Given the description of an element on the screen output the (x, y) to click on. 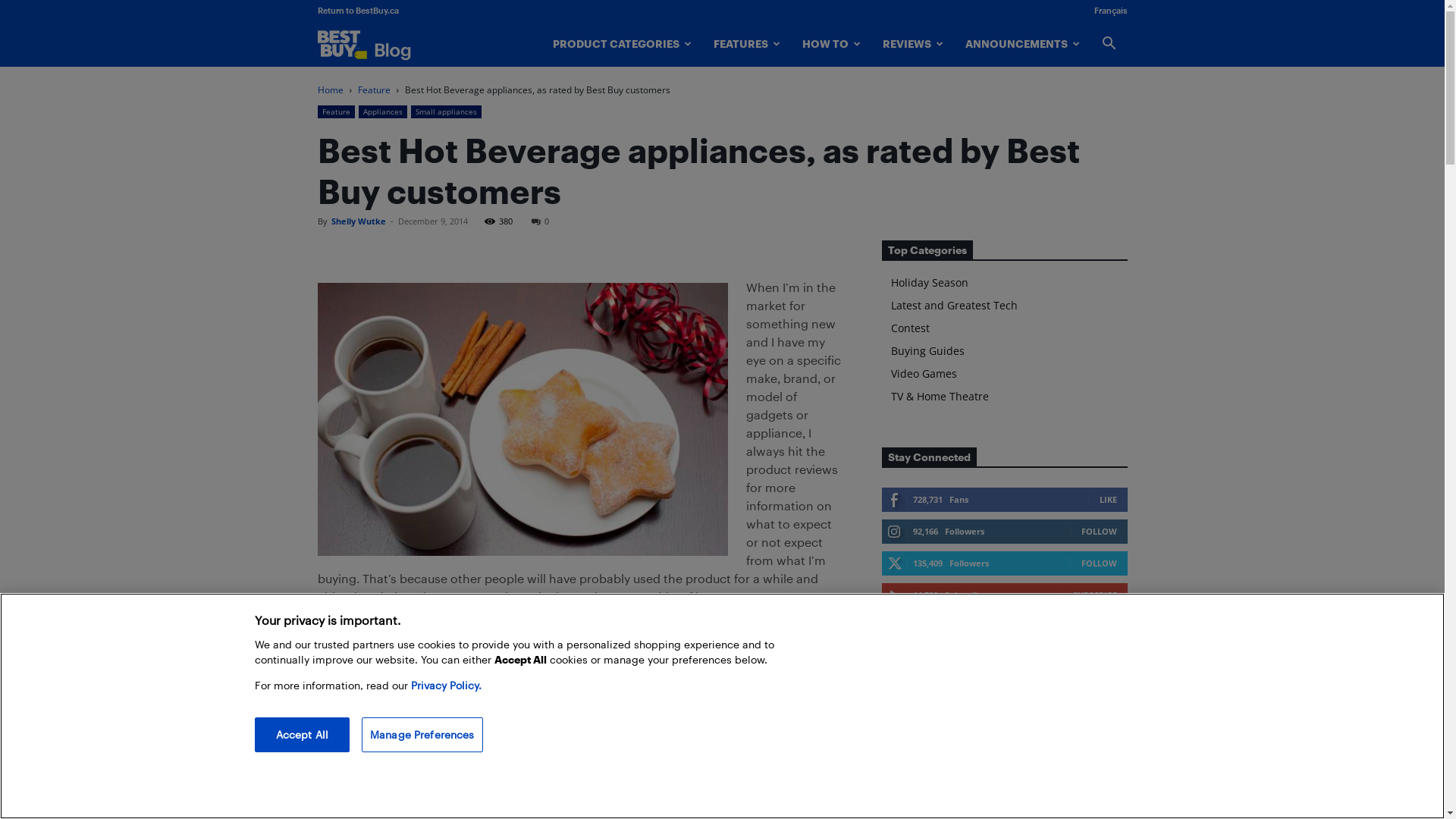
best-hot-beverage-makers.jpg Element type: hover (521, 418)
FEATURES Element type: text (746, 43)
Home Element type: text (329, 89)
FOLLOW Element type: text (1099, 530)
PRODUCT CATEGORIES Element type: text (621, 43)
ANNOUNCEMENTS Element type: text (1021, 43)
Feature Element type: text (373, 89)
LIKE Element type: text (1108, 499)
Best Buy Blog Element type: text (385, 43)
Manage Preferences Element type: text (422, 734)
Small appliances Element type: text (446, 111)
Privacy Policy. Element type: text (446, 684)
Buying Guides Element type: text (926, 350)
Return to BestBuy.ca Element type: text (357, 10)
0 Element type: text (539, 220)
SUBSCRIBE Element type: text (1094, 594)
HOW TO Element type: text (831, 43)
Video Games Element type: text (923, 373)
Appliances Element type: text (381, 111)
Holiday Season Element type: text (928, 282)
Shelly Wutke Element type: text (357, 220)
REVIEWS Element type: text (913, 43)
Feature Element type: text (335, 111)
Search Element type: text (1081, 109)
TV & Home Theatre Element type: text (939, 396)
Contest Element type: text (909, 327)
FOLLOW Element type: text (1099, 562)
Blog Element type: hover (378, 44)
Accept All Element type: text (301, 734)
Black Friday 2023 preview: 12 of the best deals you can... Element type: text (1044, 698)
Latest and Greatest Tech Element type: text (953, 305)
small kitchen appliances Element type: text (612, 634)
